Given the description of an element on the screen output the (x, y) to click on. 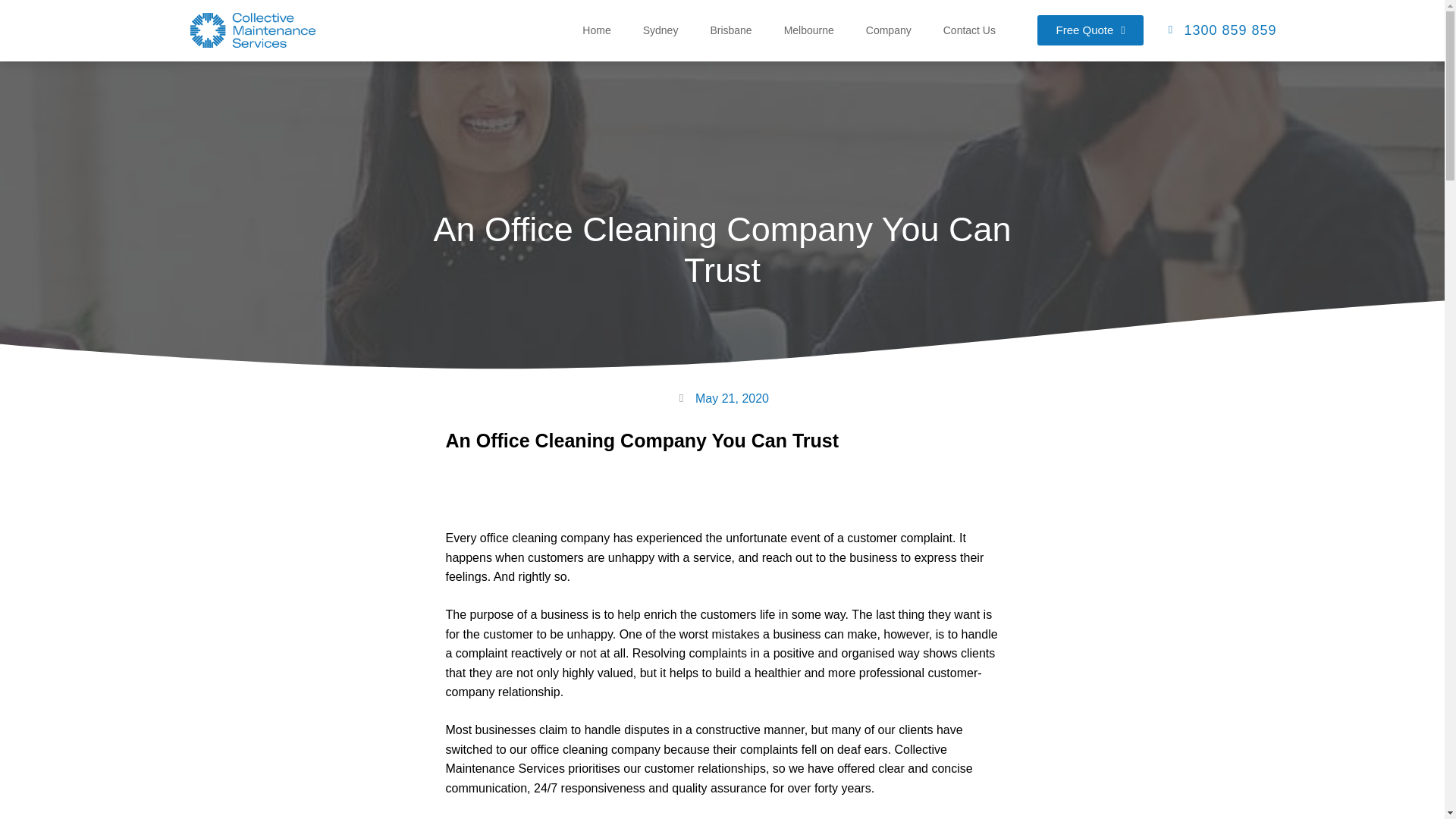
Sydney (660, 30)
Brisbane (730, 30)
Contact Us (969, 30)
Home (595, 30)
Company (888, 30)
Melbourne (809, 30)
